Given the description of an element on the screen output the (x, y) to click on. 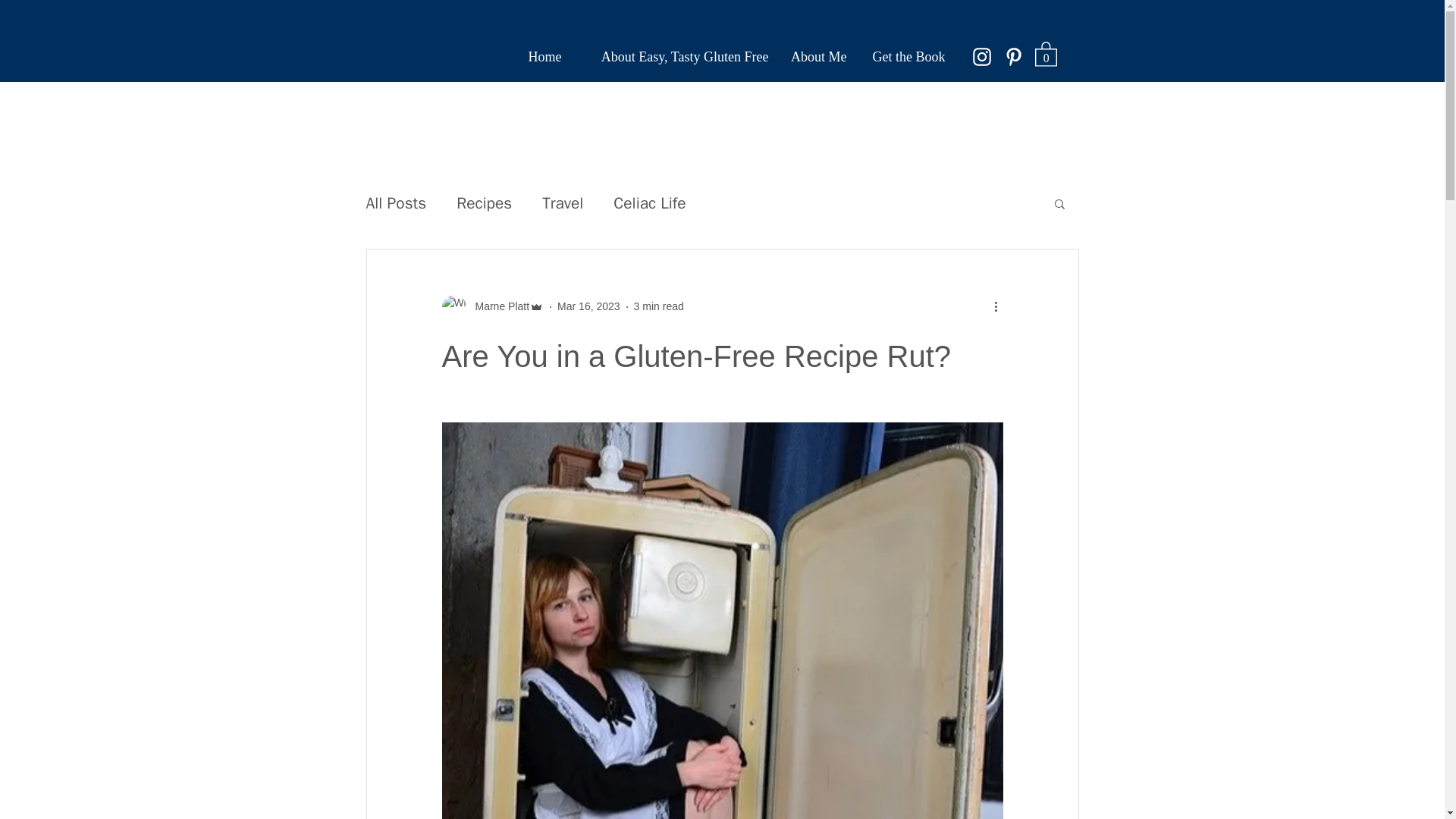
Travel (562, 202)
Home (542, 56)
Get the Book (902, 56)
Marne Platt (497, 306)
About Easy, Tasty Gluten Free (672, 56)
Recipes (484, 202)
All Posts (395, 202)
About Me (815, 56)
3 min read (658, 306)
Mar 16, 2023 (588, 306)
Celiac Life (648, 202)
